Given the description of an element on the screen output the (x, y) to click on. 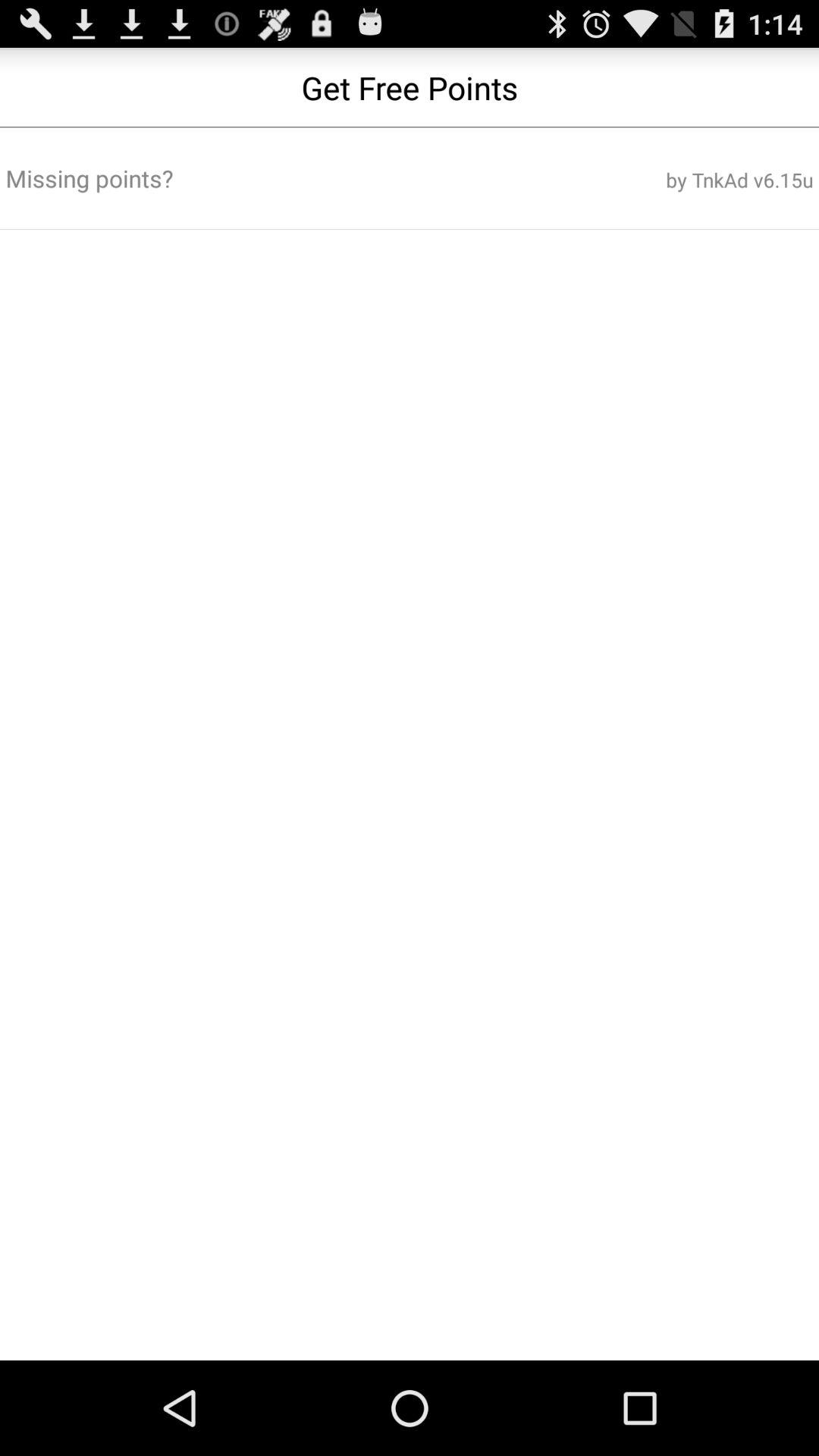
click button next to the by tnkad v6 button (273, 178)
